Given the description of an element on the screen output the (x, y) to click on. 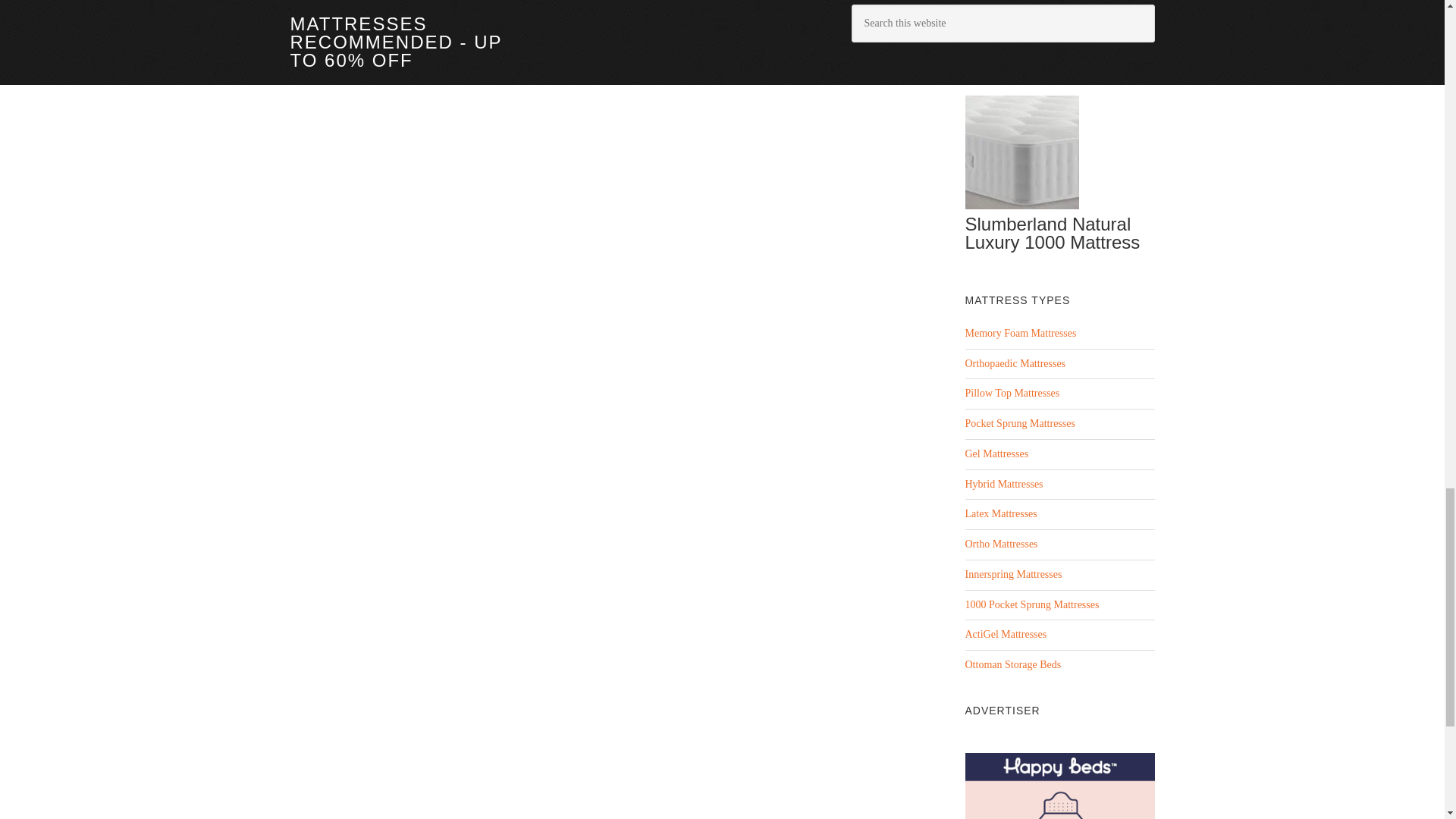
Pocket Sprung Mattresses (1018, 423)
Slumberland Natural Luxury 1000 Mattress (1051, 232)
Pillow Top Mattresses (1011, 392)
Silentnight Mirapocket Serenity 1200 Memory Mattress (1055, 46)
Latex Mattresses (999, 513)
Innerspring Mattresses (1012, 573)
Memory Foam Mattresses (1019, 333)
ActiGel Mattresses (1004, 633)
Ortho Mattresses (999, 543)
Gel Mattresses (995, 453)
